Given the description of an element on the screen output the (x, y) to click on. 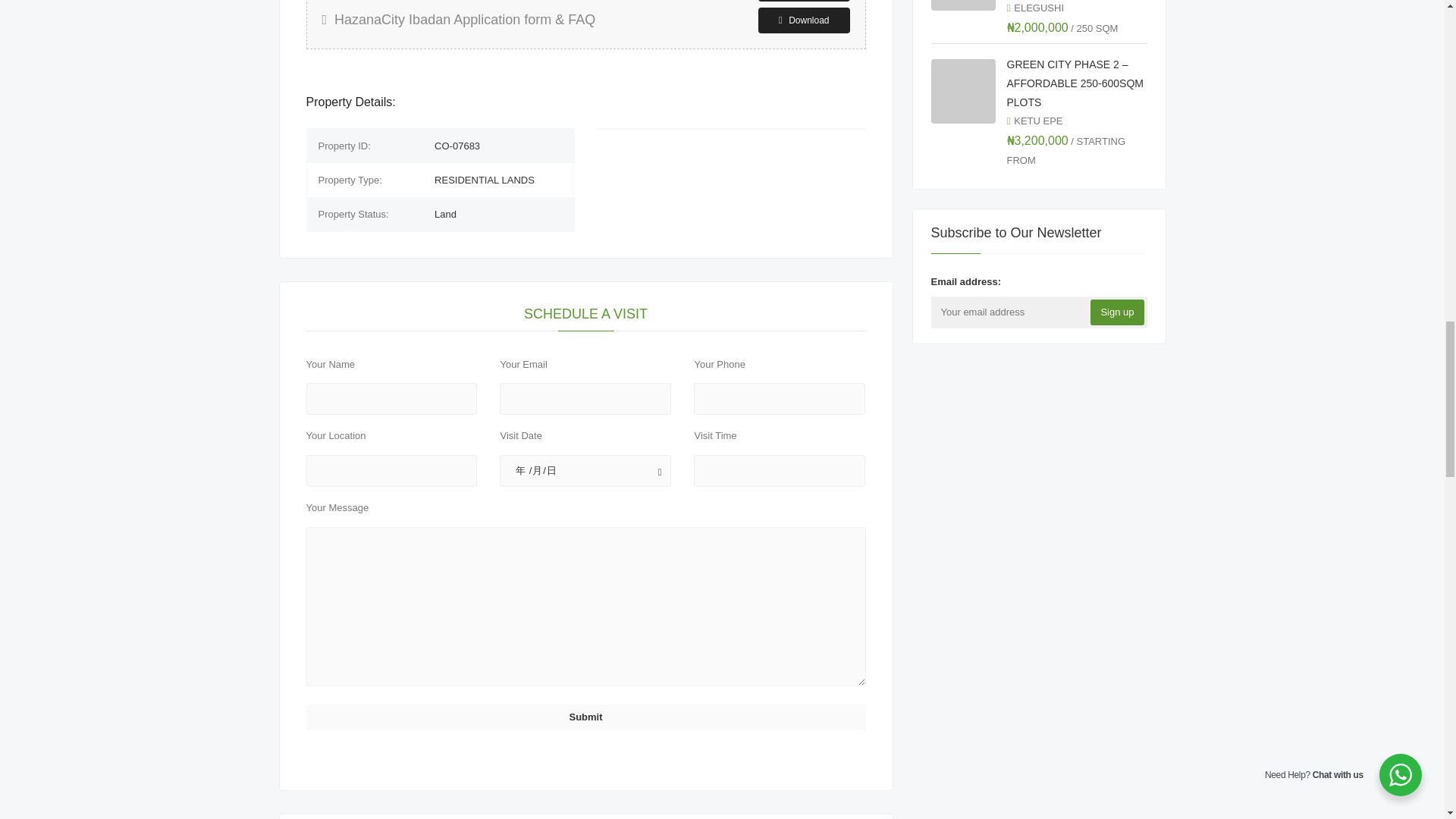
Submit (585, 717)
Download (803, 0)
Download (803, 20)
